Given the description of an element on the screen output the (x, y) to click on. 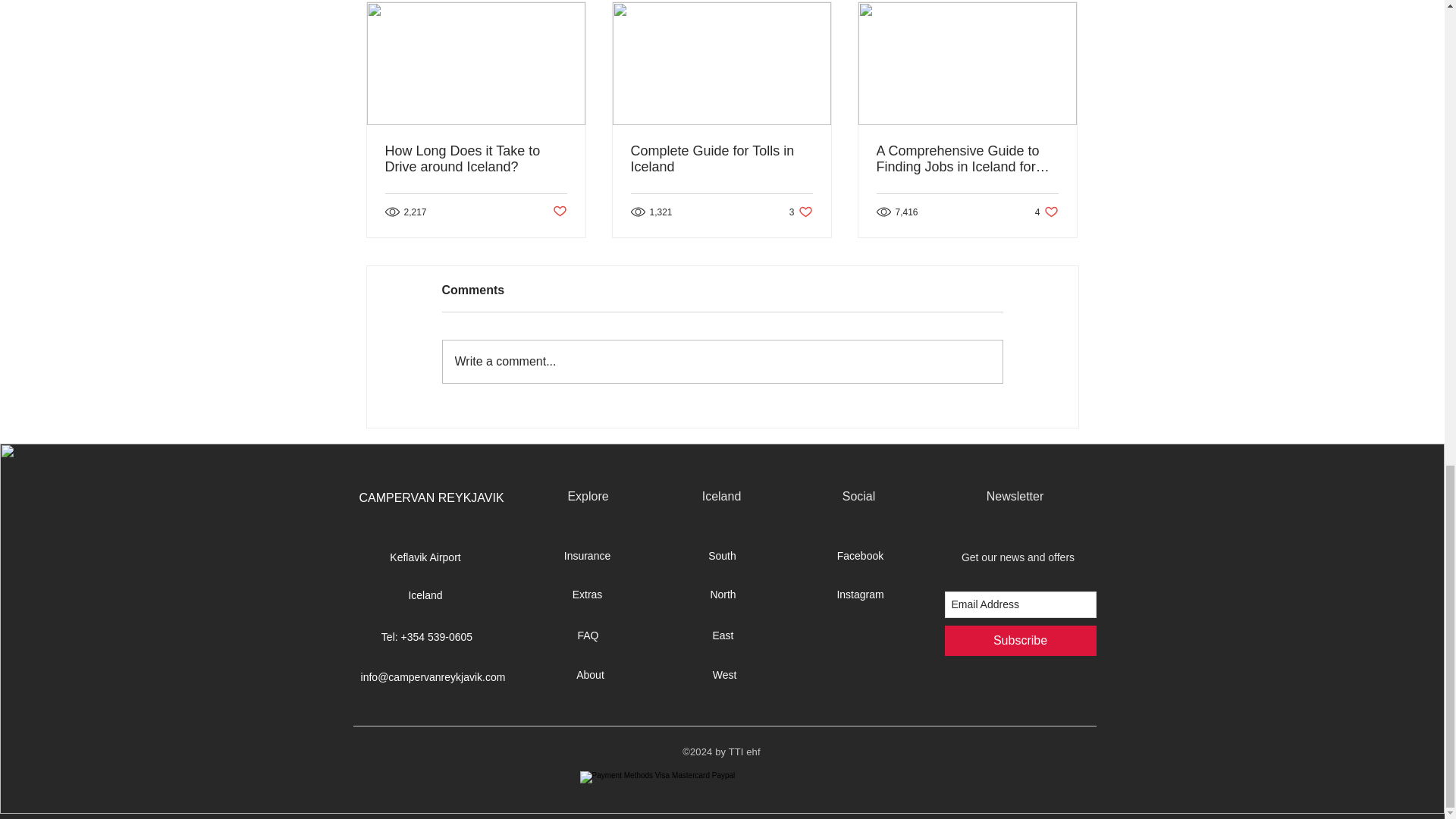
Payment Method (723, 784)
How Long Does it Take to Drive around Iceland? (476, 159)
